Given the description of an element on the screen output the (x, y) to click on. 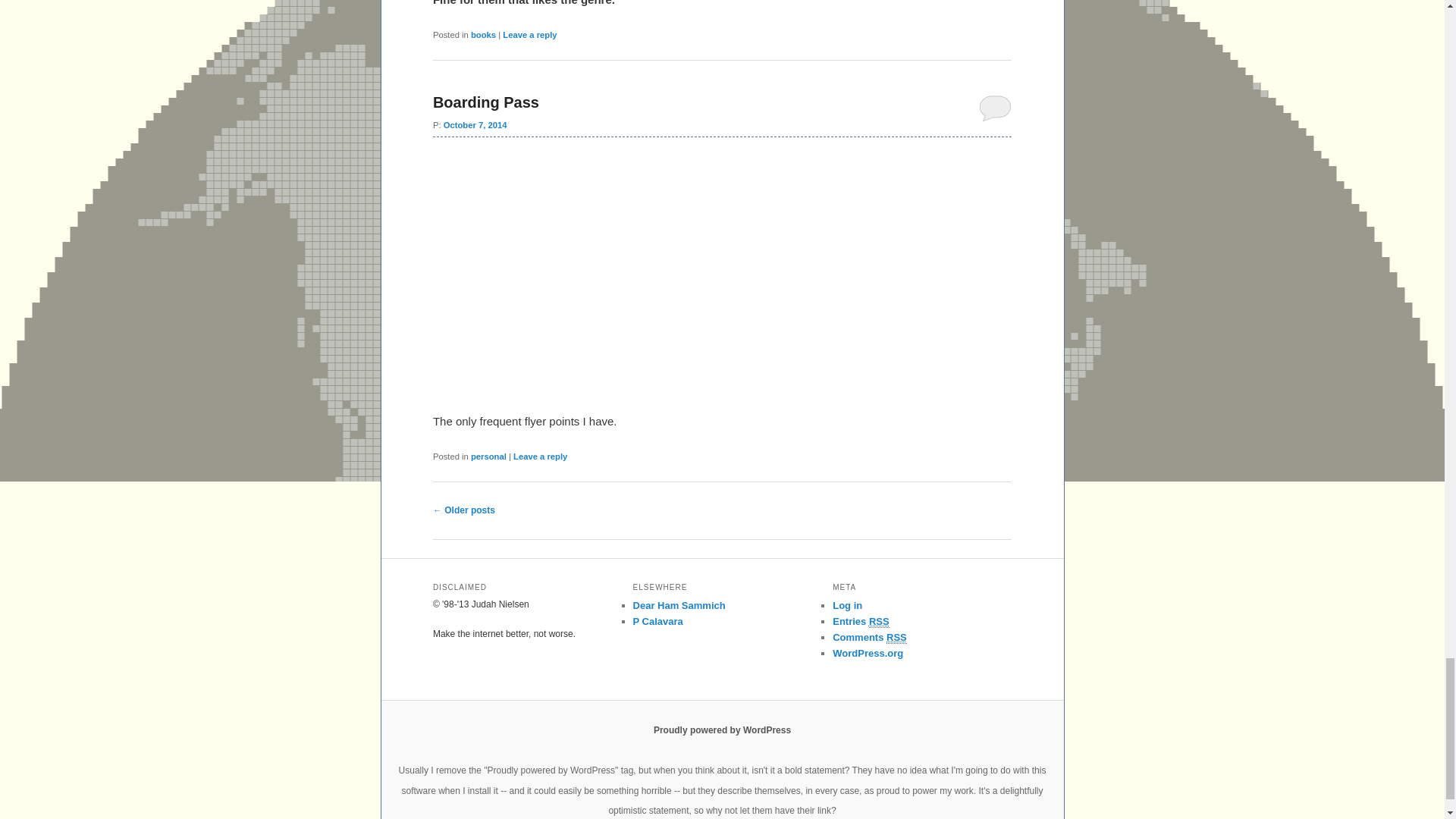
P. Calavara is a former bandmate and Olympia, WA artist. (657, 621)
October 7, 2014 (475, 124)
Leave a reply (540, 455)
books (483, 34)
Really Simple Syndication (896, 637)
Really Simple Syndication (879, 621)
personal (488, 455)
2:25 pm (475, 124)
Leave a reply (529, 34)
Semantic Personal Publishing Platform (721, 729)
Boarding Pass (485, 102)
